Given the description of an element on the screen output the (x, y) to click on. 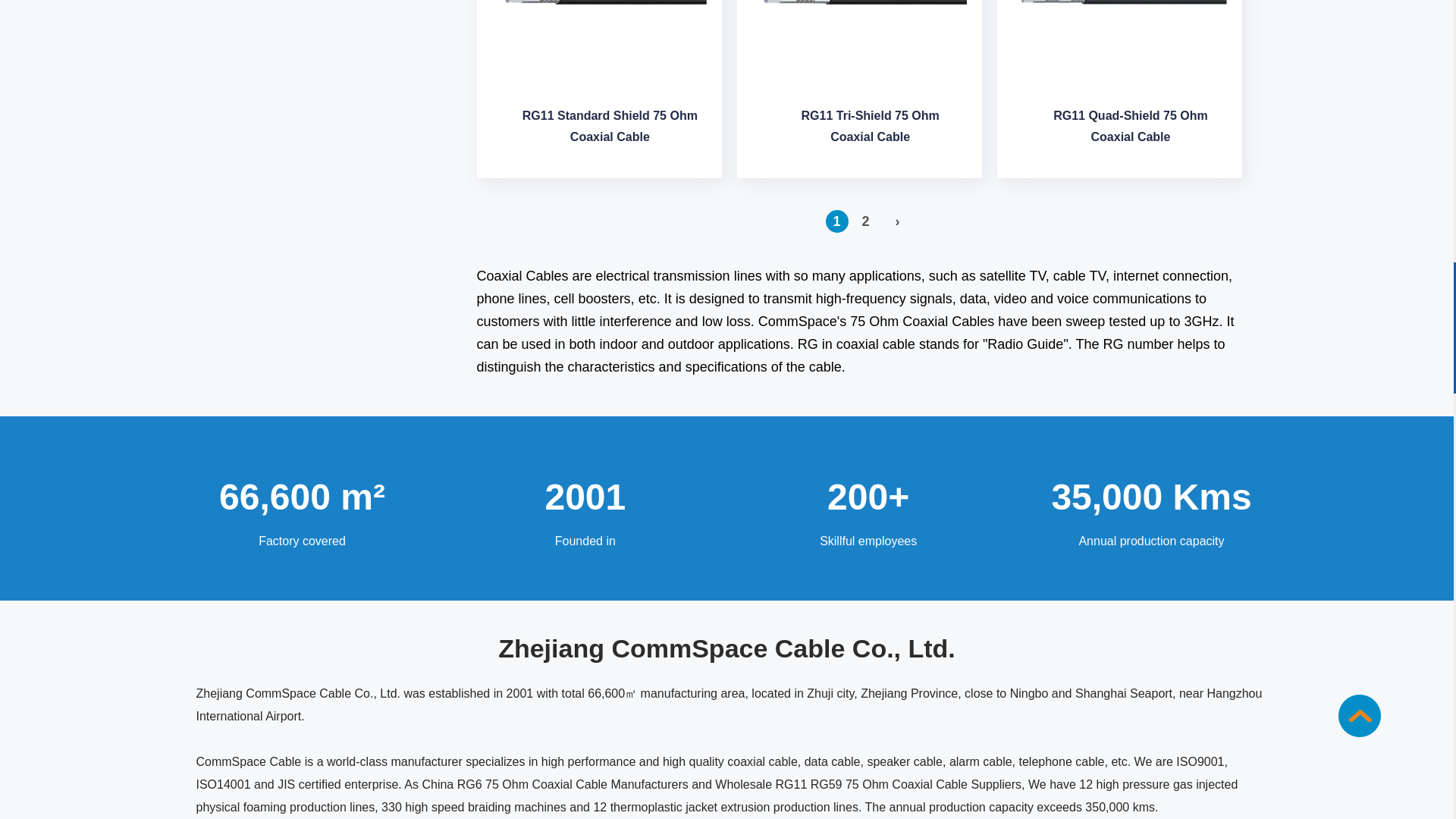
RG11 Standard Shield 75 Ohm Coaxial Cable (599, 52)
RG11 Standard Shield 75 Ohm Coaxial Cable (609, 131)
